Given the description of an element on the screen output the (x, y) to click on. 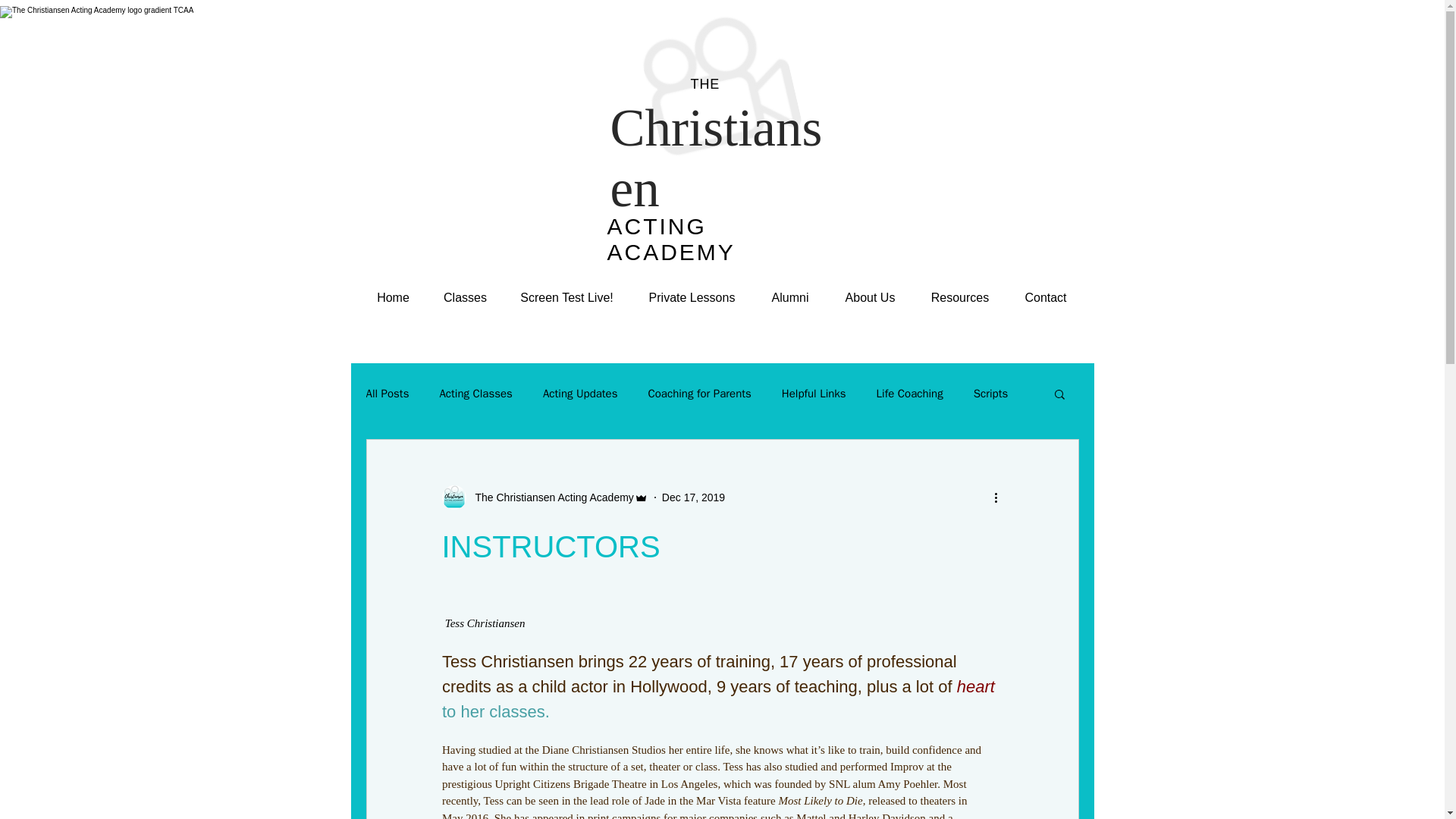
The Christiansen Acting Academy (544, 497)
Private Lessons (692, 297)
Dec 17, 2019 (693, 497)
All Posts (387, 393)
Alumni (790, 297)
Contact (1045, 297)
Coaching for Parents (699, 393)
Acting Updates (580, 393)
The Christiansen Acting Academy (549, 497)
Scripts (991, 393)
